Given the description of an element on the screen output the (x, y) to click on. 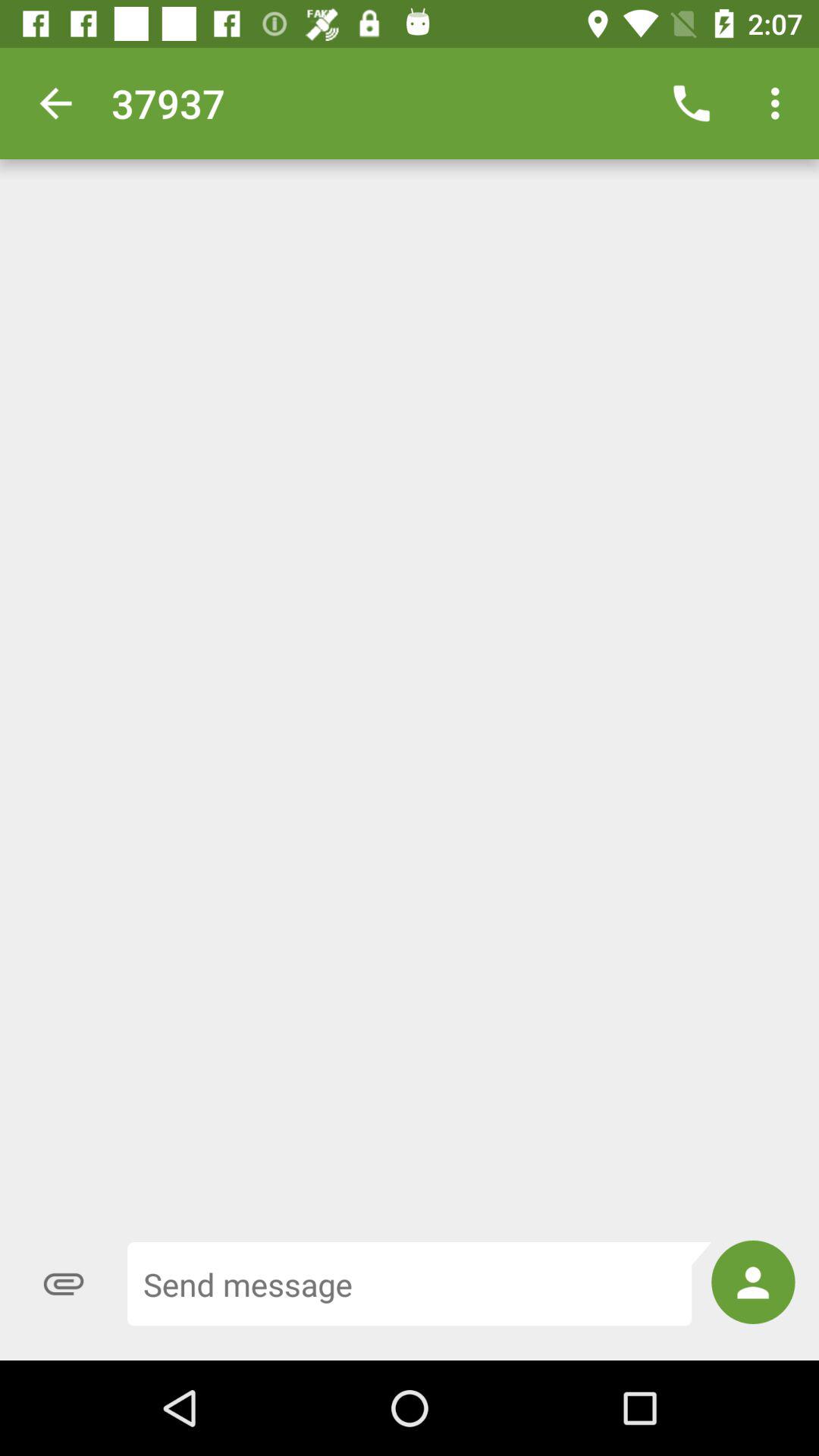
select item to the right of the 37937 icon (691, 103)
